Given the description of an element on the screen output the (x, y) to click on. 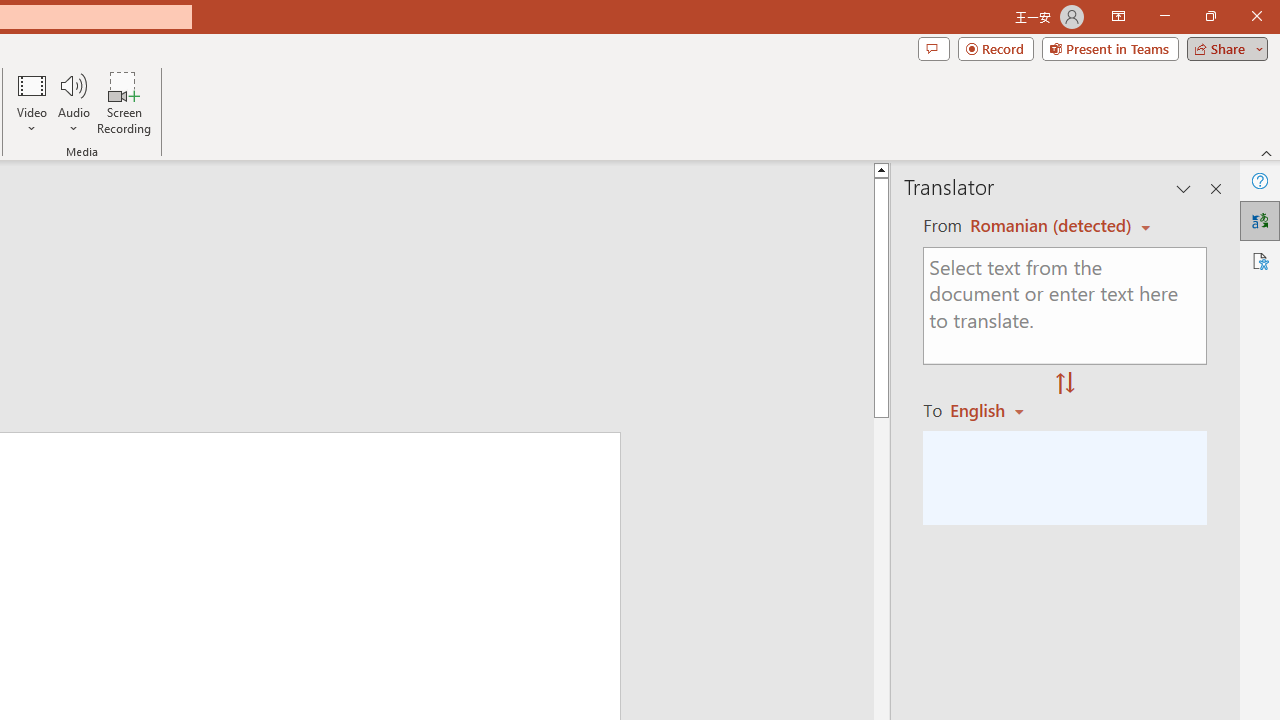
Romanian (994, 409)
Video (31, 102)
Screen Recording... (123, 102)
Romanian (detected) (1047, 225)
